Given the description of an element on the screen output the (x, y) to click on. 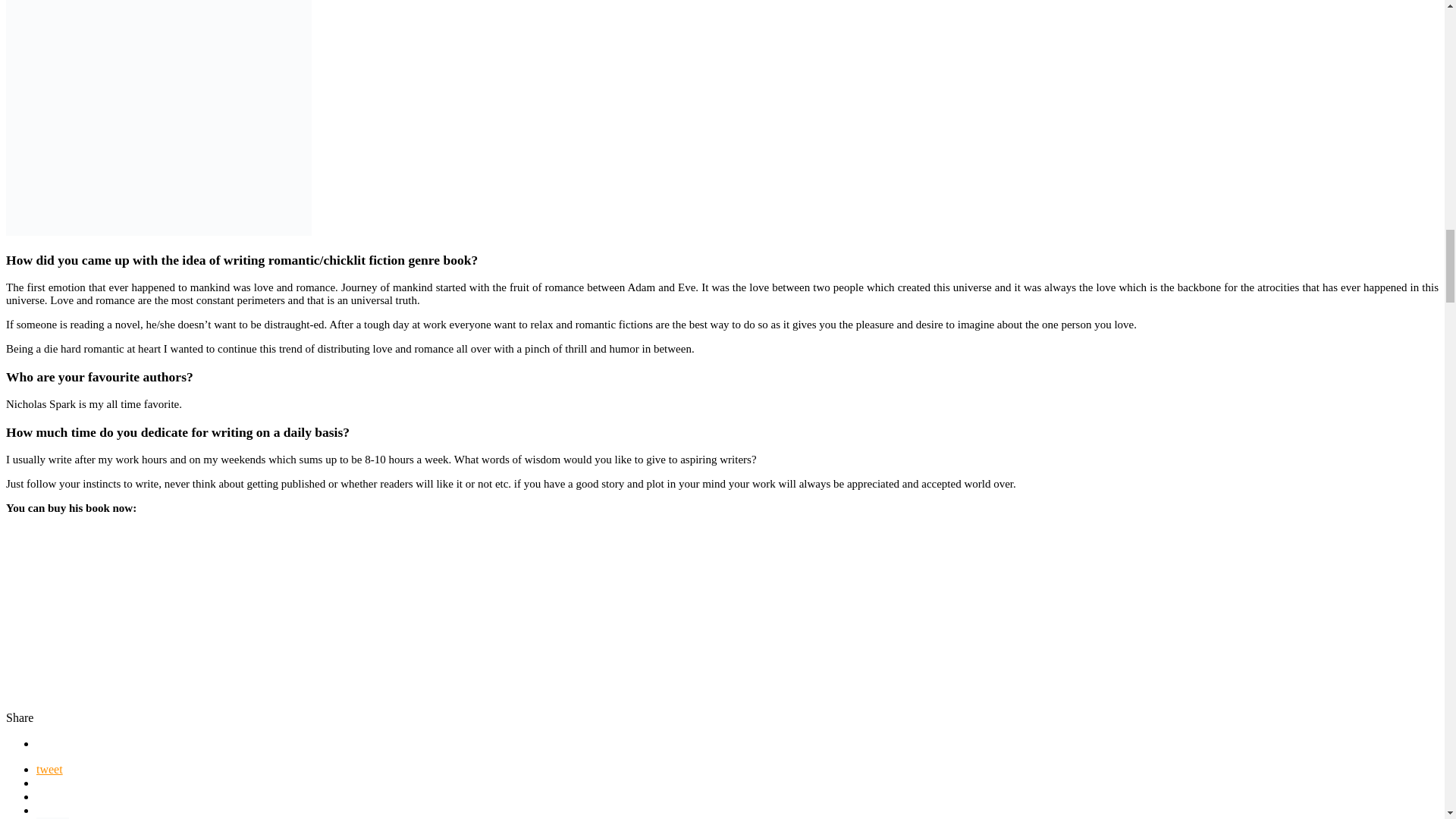
Pin It (52, 818)
tweet (49, 768)
